Given the description of an element on the screen output the (x, y) to click on. 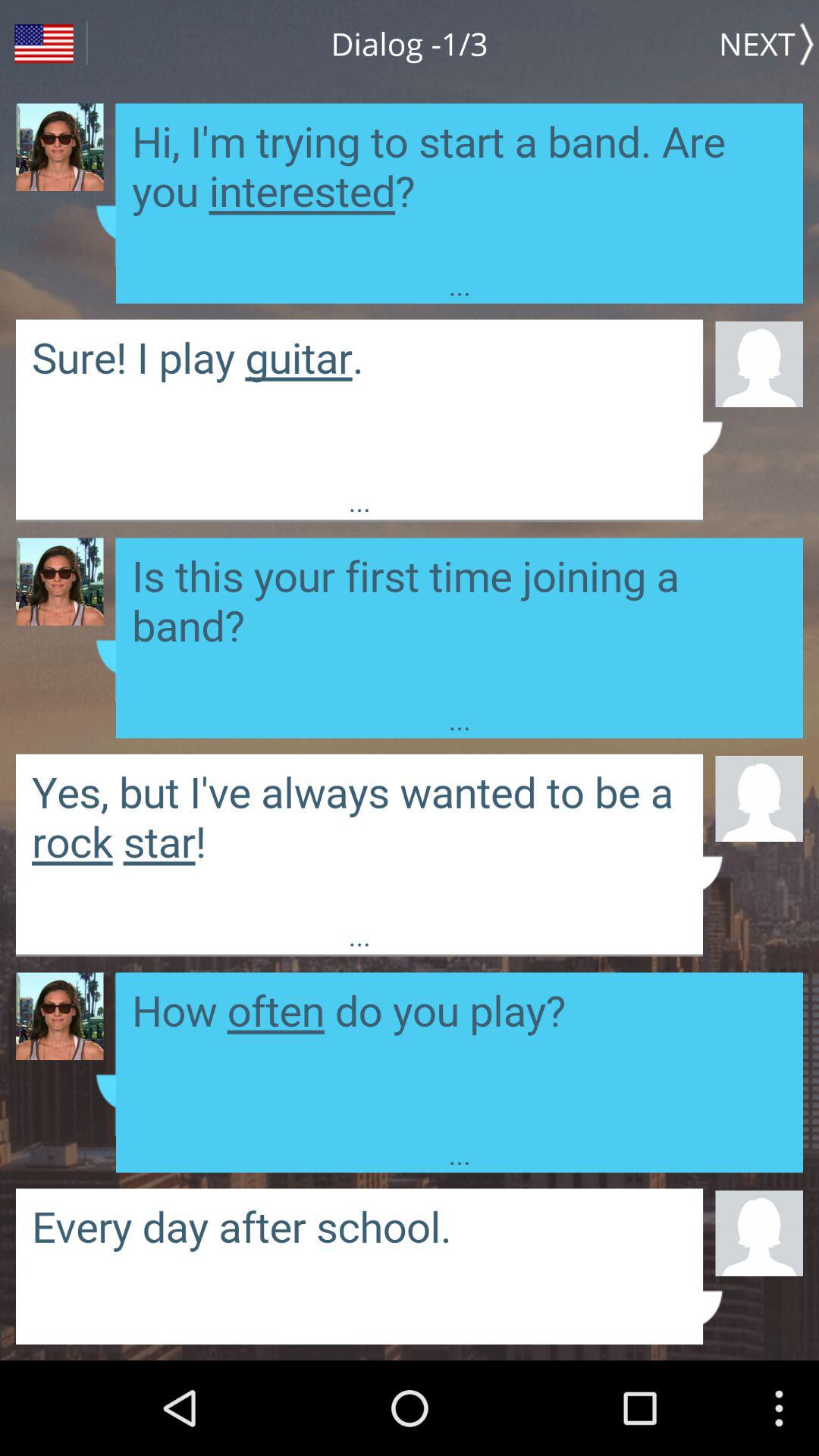
scroll until the next icon (768, 43)
